Given the description of an element on the screen output the (x, y) to click on. 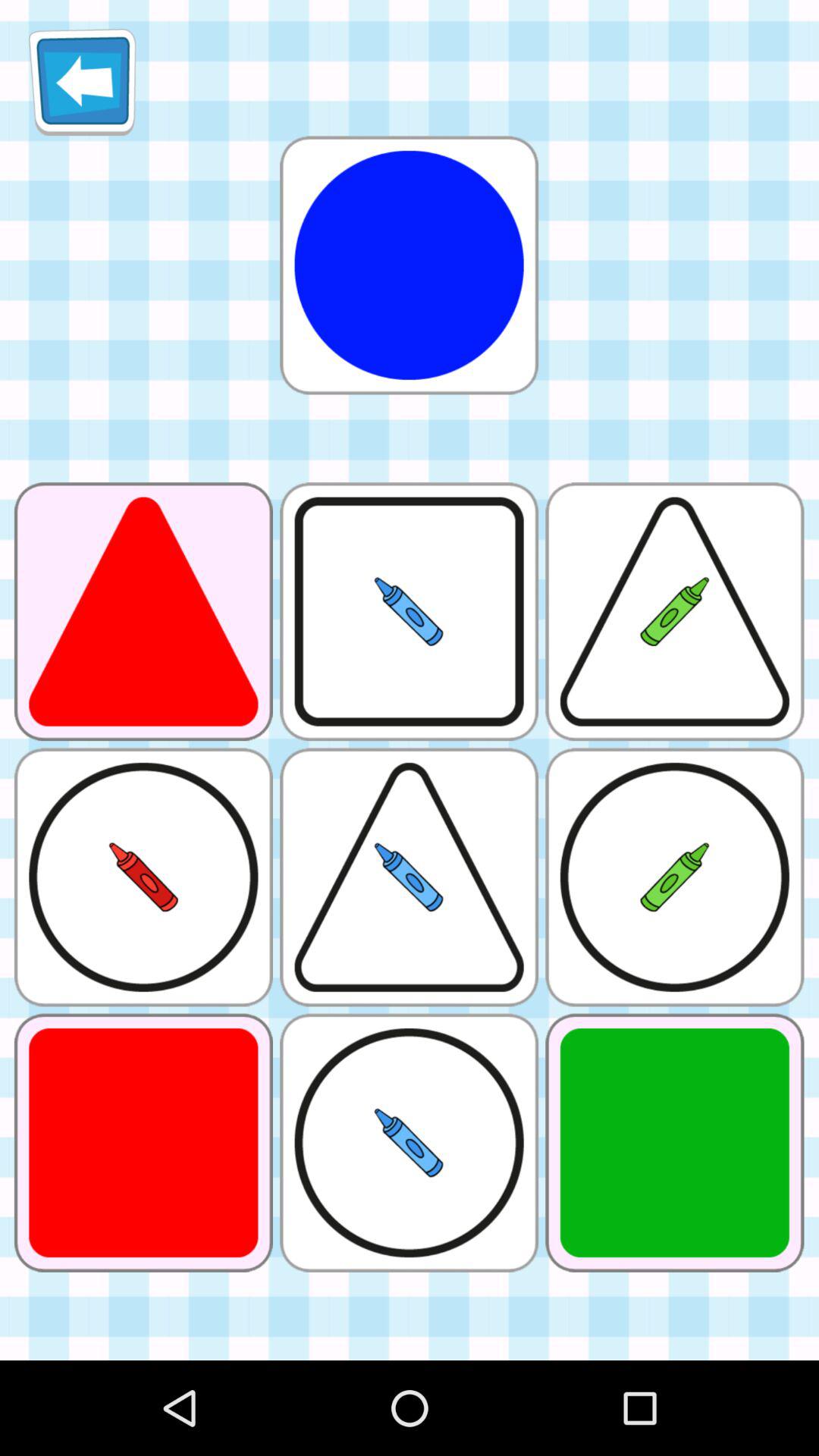
go back (82, 82)
